Given the description of an element on the screen output the (x, y) to click on. 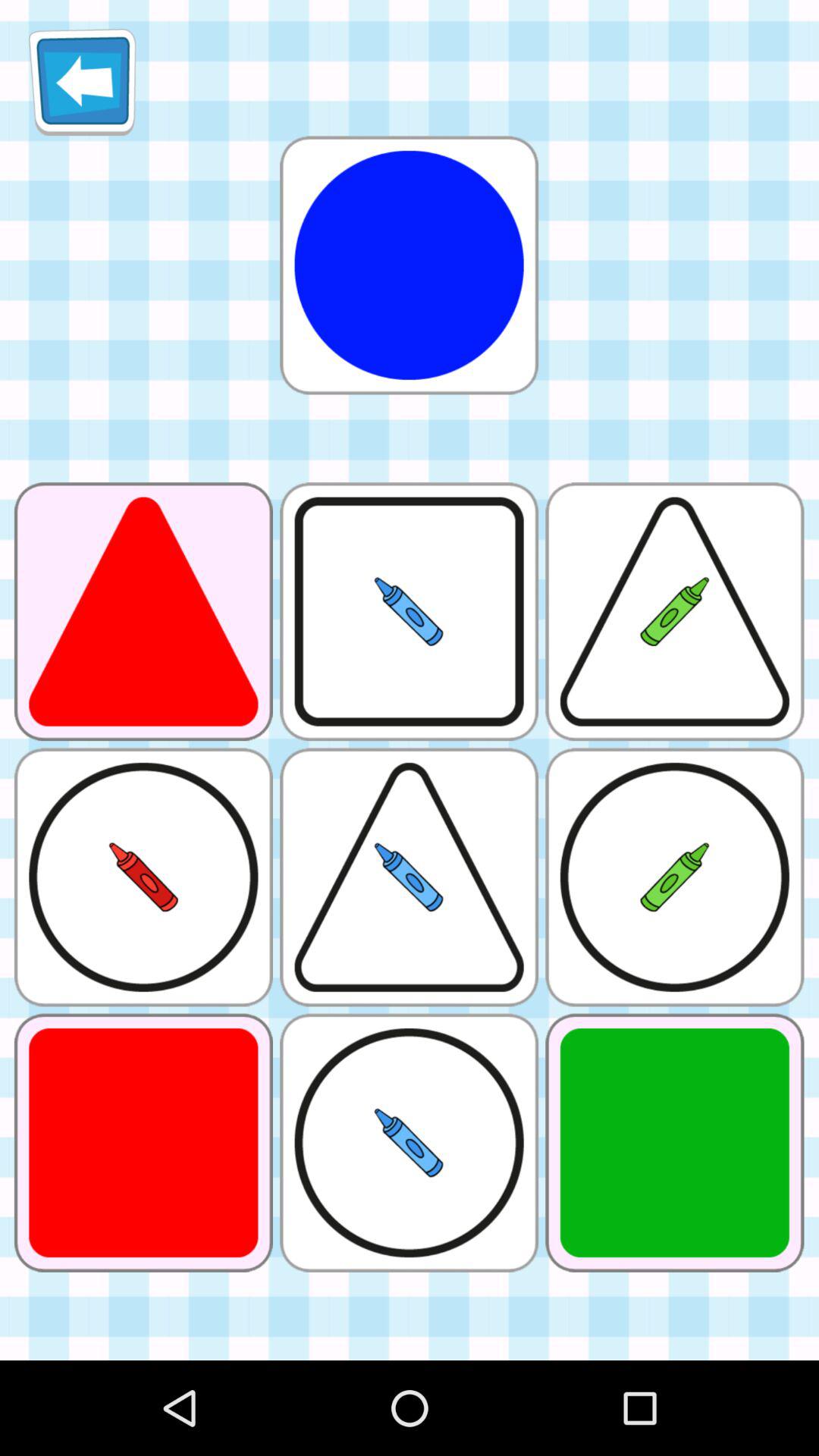
go back (82, 82)
